Given the description of an element on the screen output the (x, y) to click on. 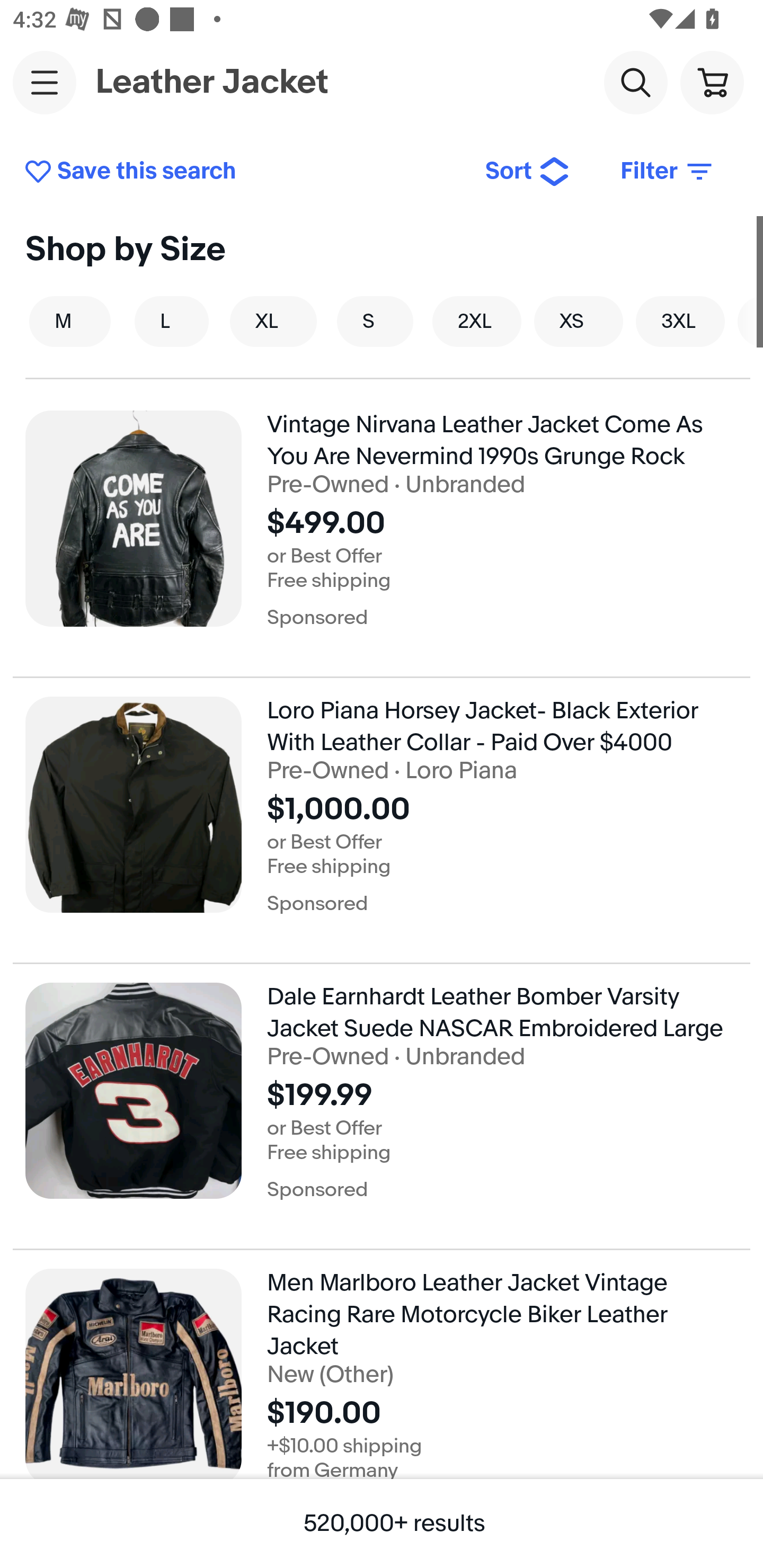
Main navigation, open (44, 82)
Search (635, 81)
Cart button shopping cart (711, 81)
Save this search (241, 171)
Sort (527, 171)
Filter (667, 171)
M M, Size (69, 321)
L L, Size (171, 321)
XL XL, Size (273, 321)
S S, Size (374, 321)
2XL 2XL, Size (476, 321)
XS XS, Size (578, 321)
3XL 3XL, Size (679, 321)
